Given the description of an element on the screen output the (x, y) to click on. 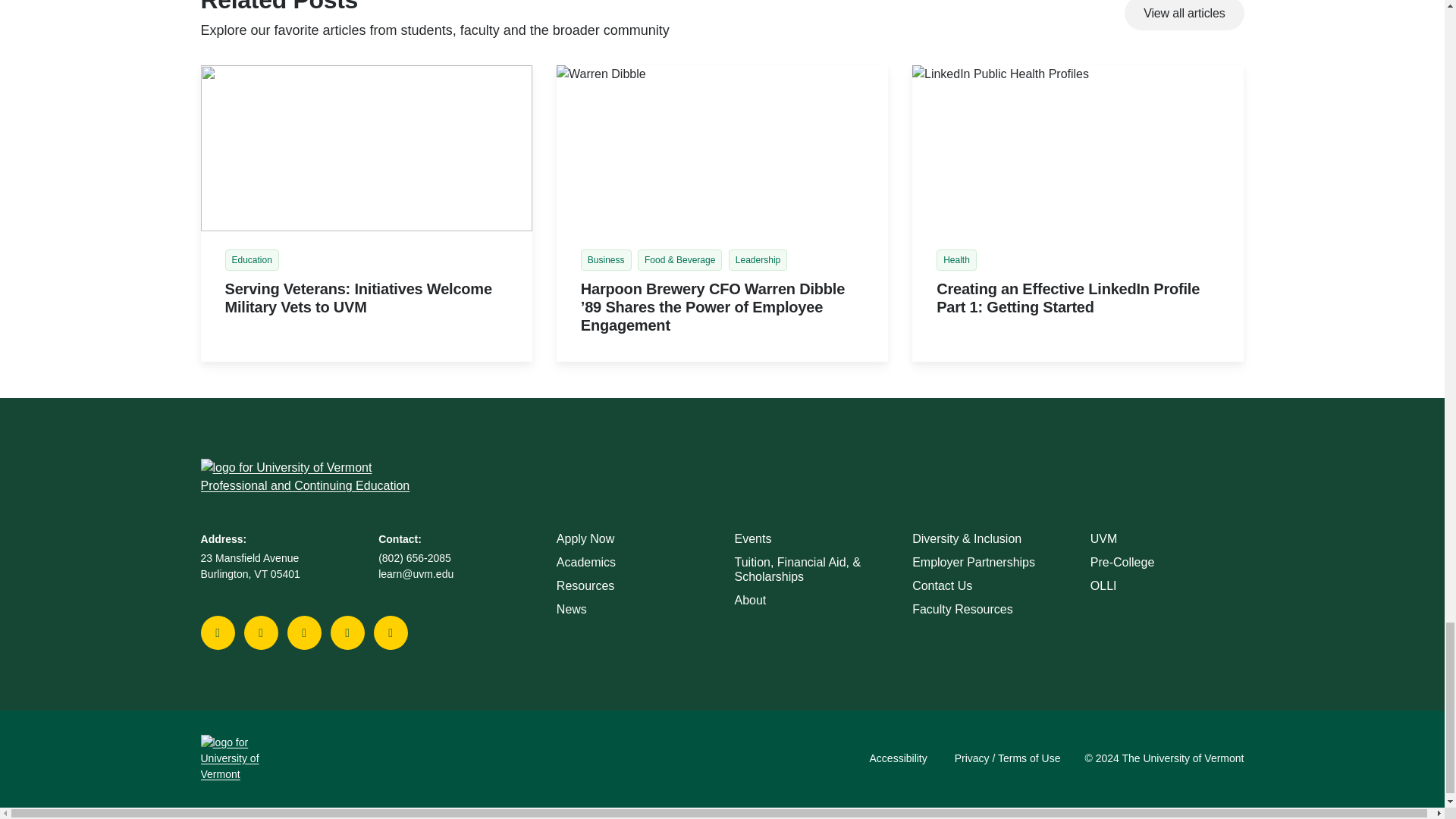
Warren Dibble - UVM Professional and Continuing Education (722, 147)
LinkedIn (347, 633)
uvm-logo-white - UVM Professional and Continuing Education (247, 758)
 - UVM Professional and Continuing Education (365, 147)
Twitter (260, 633)
YouTube (304, 633)
Instagram (390, 633)
Facebook (218, 633)
